Given the description of an element on the screen output the (x, y) to click on. 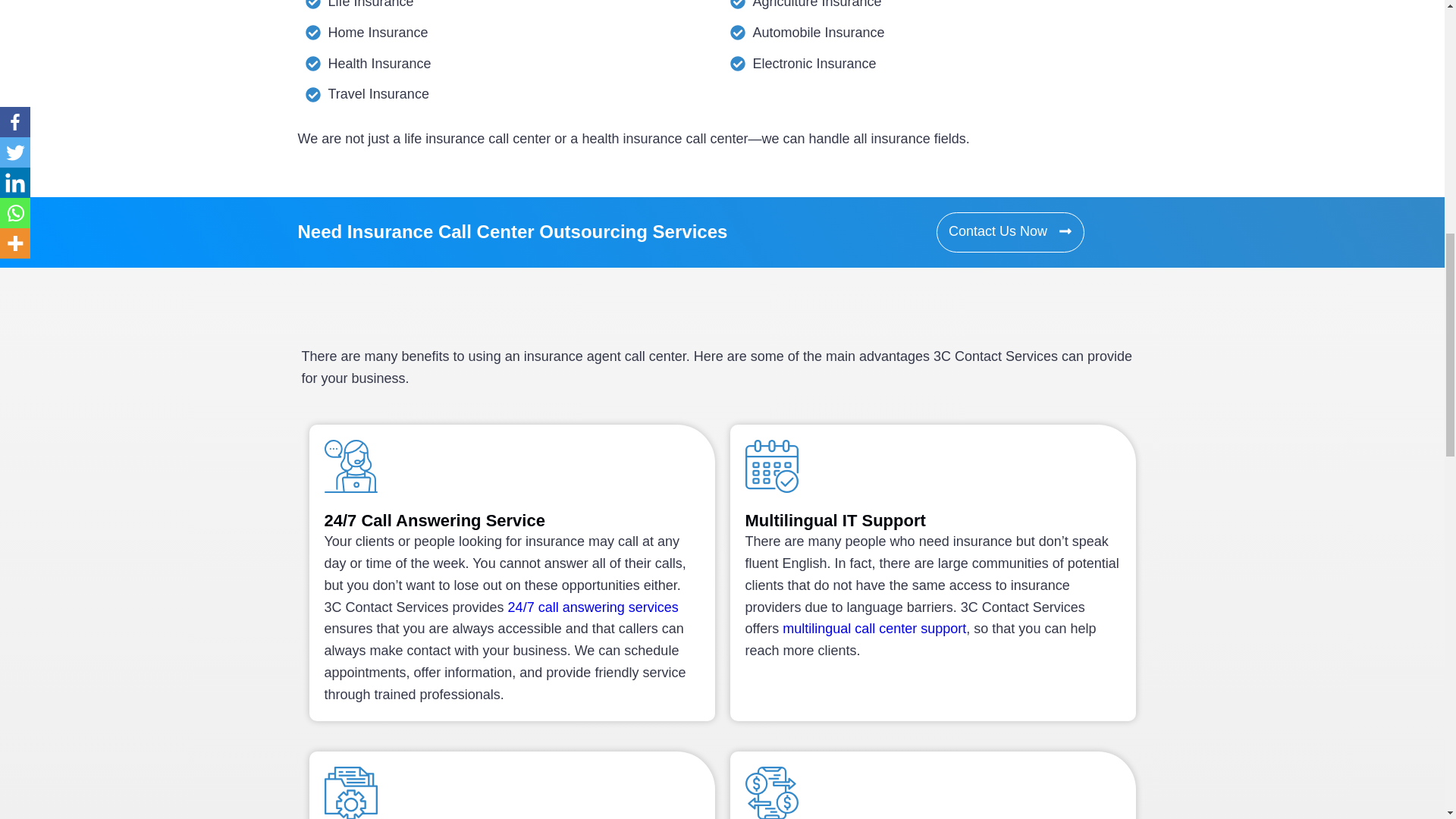
multilingual call center support (874, 628)
Contact Us Now (1010, 232)
